Given the description of an element on the screen output the (x, y) to click on. 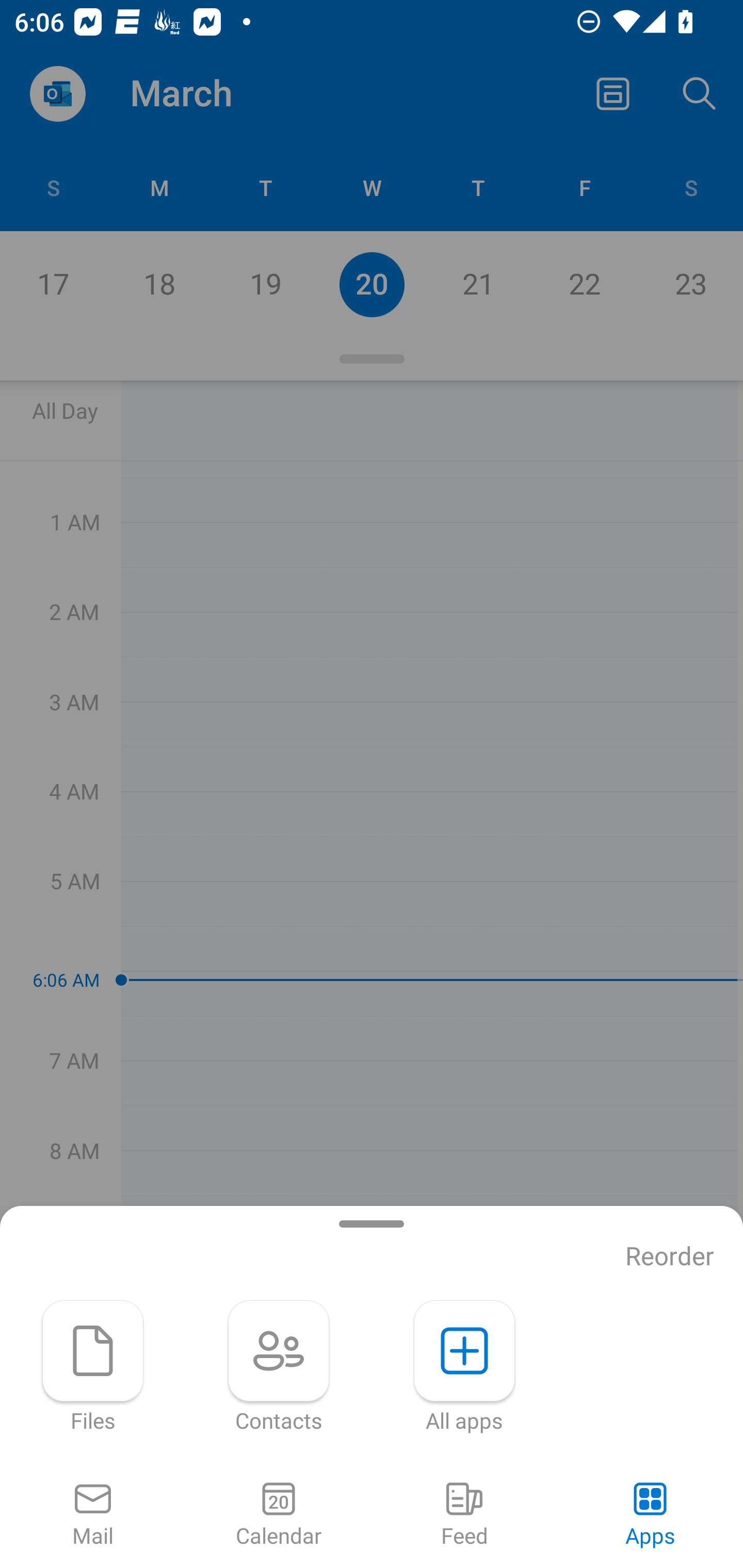
Reorder (669, 1256)
Files (92, 1366)
Contacts (278, 1366)
All apps (464, 1366)
Mail (92, 1515)
Calendar (278, 1515)
Feed (464, 1515)
